Given the description of an element on the screen output the (x, y) to click on. 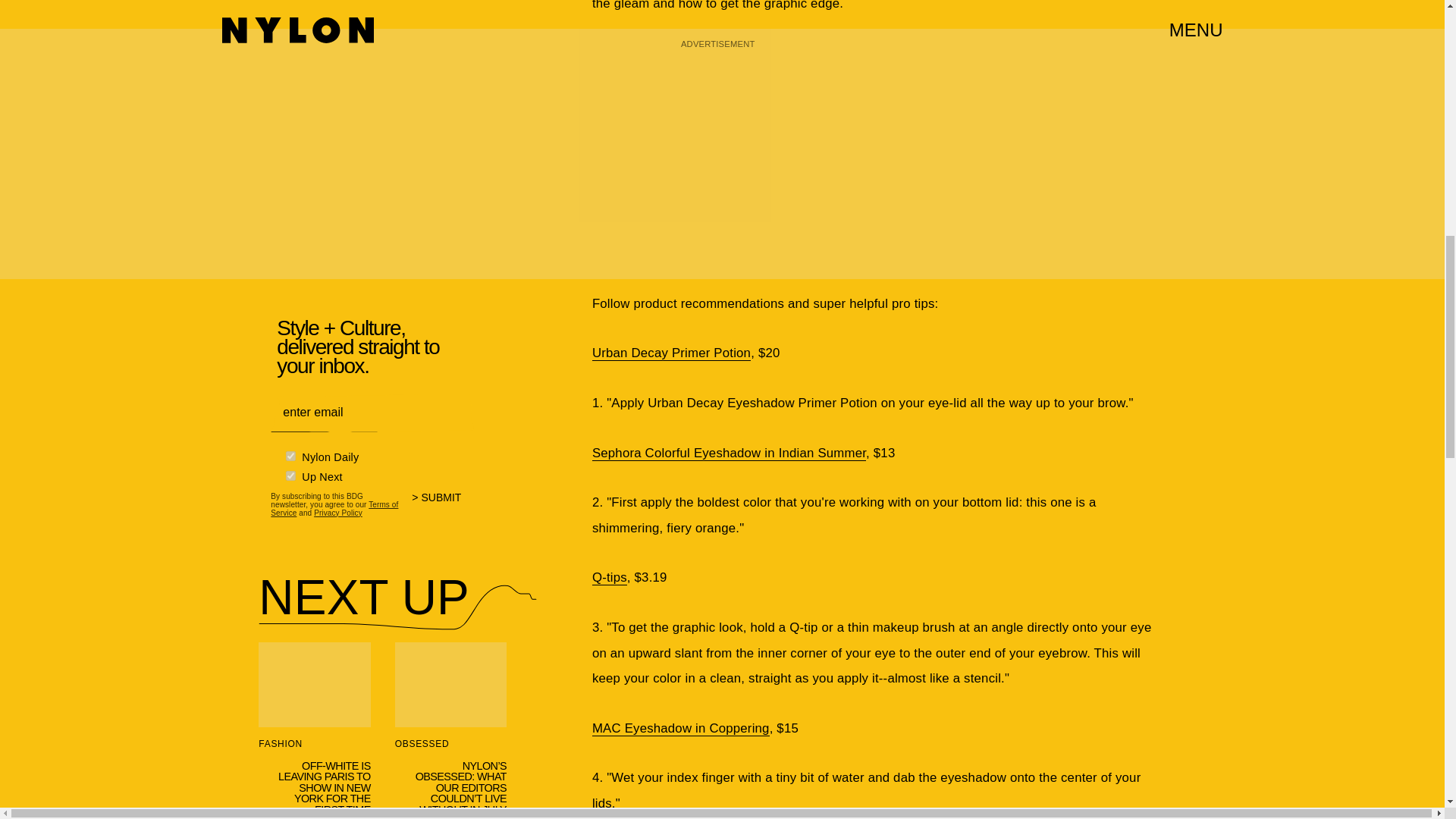
Sephora Colorful Eyeshadow in Indian Summer (729, 453)
Terms of Service (333, 508)
Urban Decay Primer Potion (671, 353)
MAC Eyeshadow in Coppering (681, 728)
Q-tips (609, 577)
Privacy Policy (338, 512)
SUBMIT (443, 507)
